Given the description of an element on the screen output the (x, y) to click on. 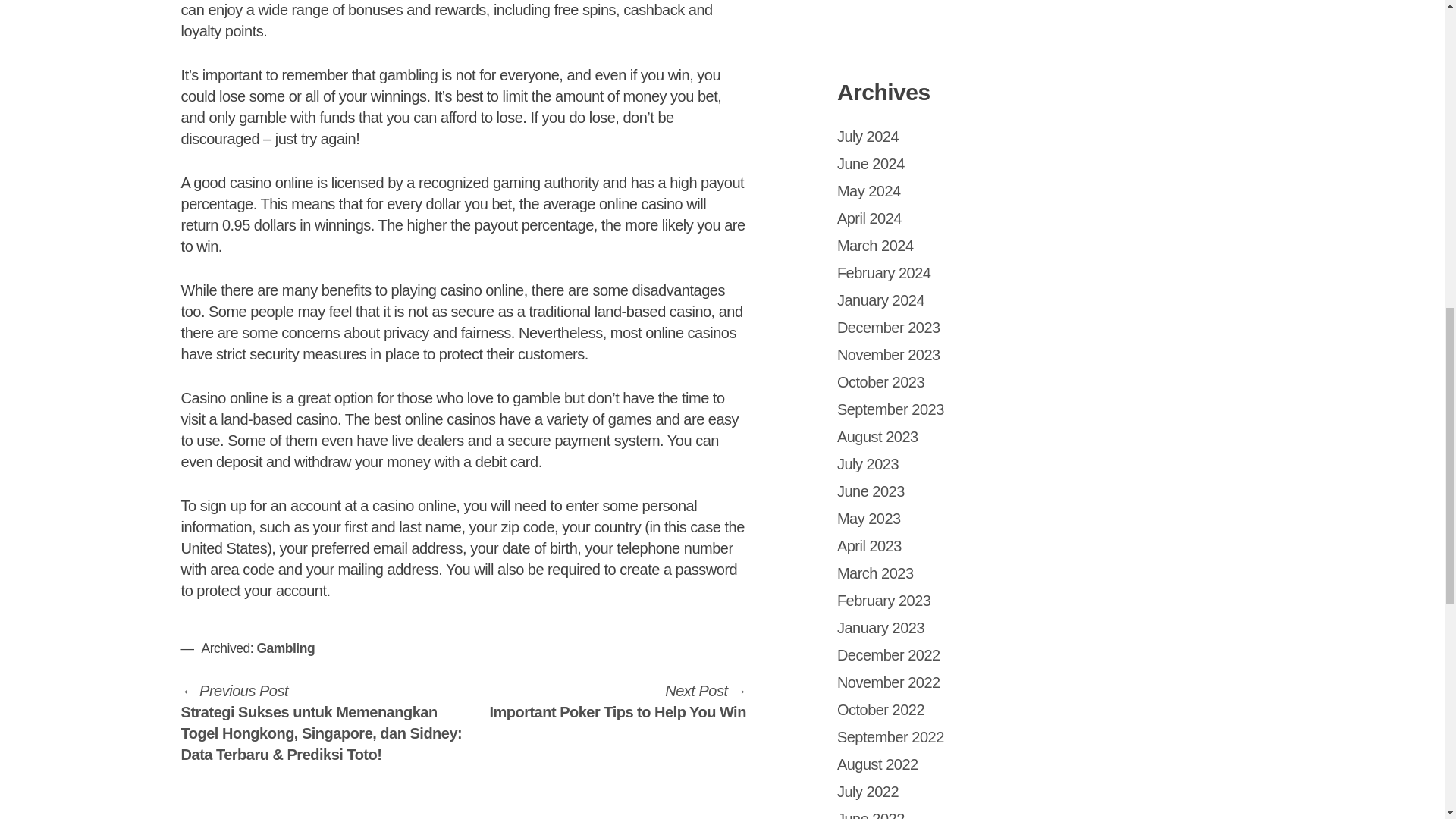
October 2023 (880, 381)
Gambling (285, 648)
April 2023 (869, 545)
November 2023 (888, 354)
March 2023 (875, 573)
June 2024 (870, 163)
December 2023 (888, 327)
February 2023 (884, 600)
December 2022 (888, 655)
August 2023 (617, 701)
May 2024 (877, 436)
June 2023 (869, 190)
January 2023 (870, 491)
March 2024 (880, 627)
